Given the description of an element on the screen output the (x, y) to click on. 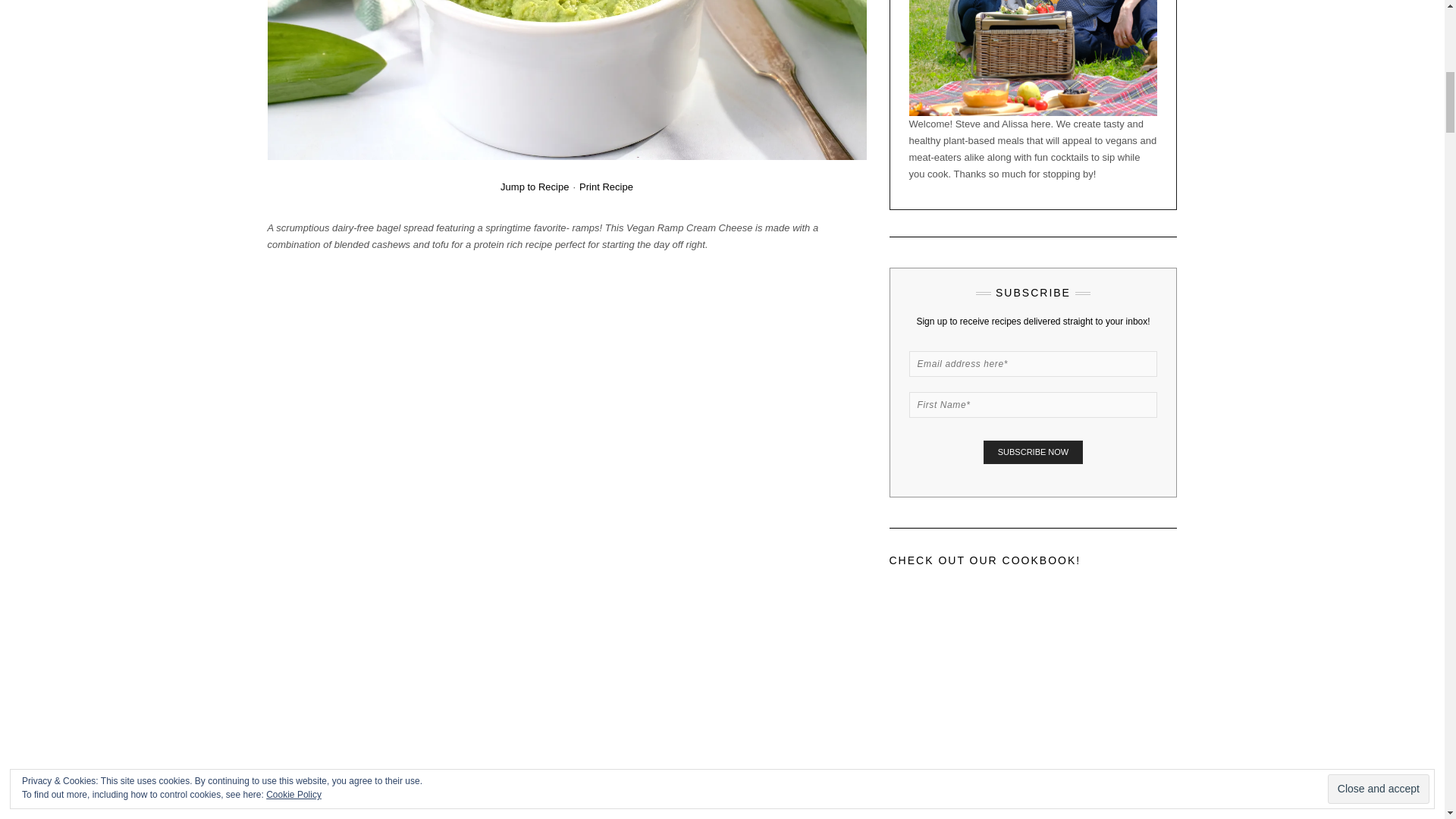
Subscribe now (1033, 452)
